Given the description of an element on the screen output the (x, y) to click on. 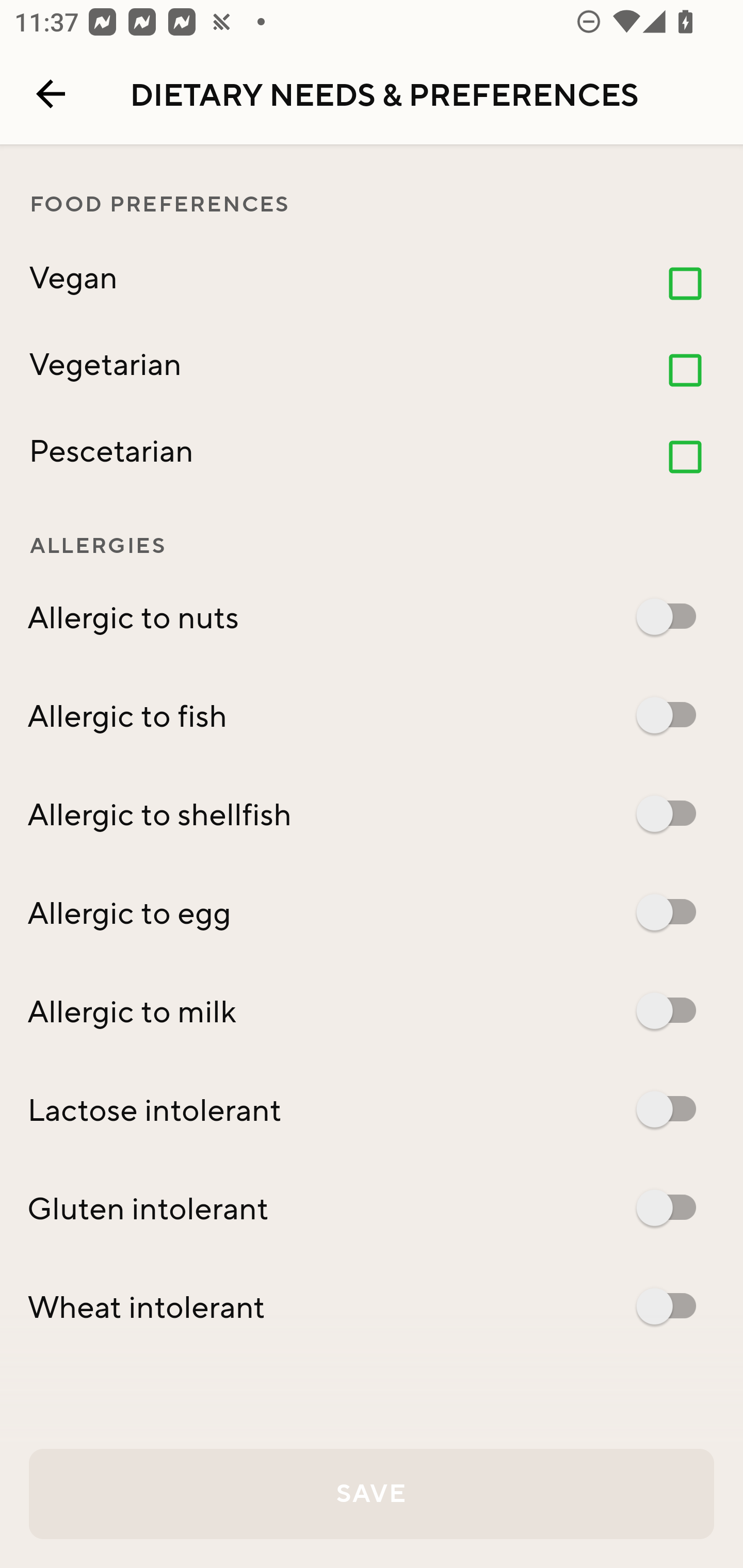
Navigate up (50, 93)
SAVE (371, 1493)
